Given the description of an element on the screen output the (x, y) to click on. 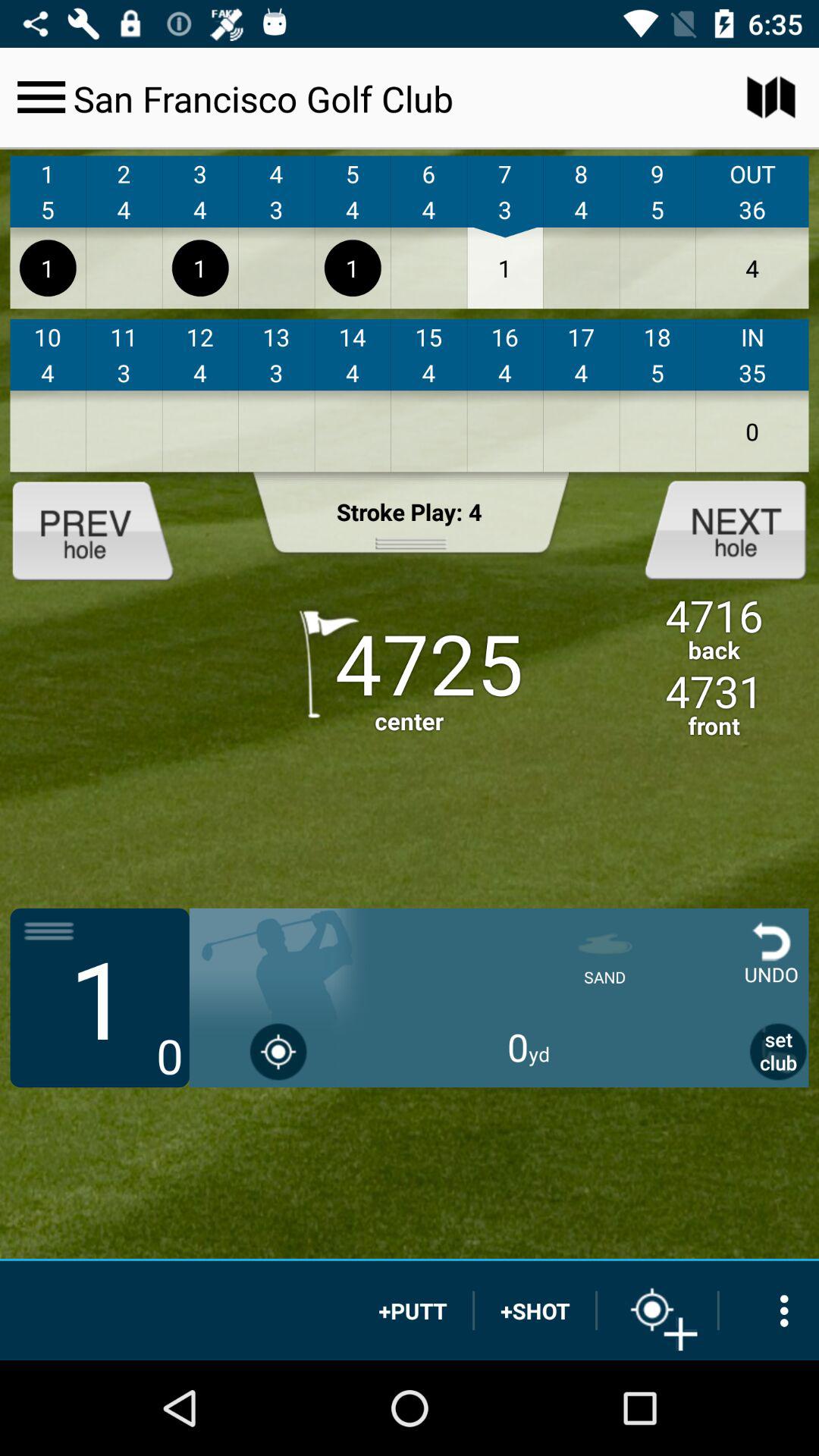
go to the next item (712, 528)
